Given the description of an element on the screen output the (x, y) to click on. 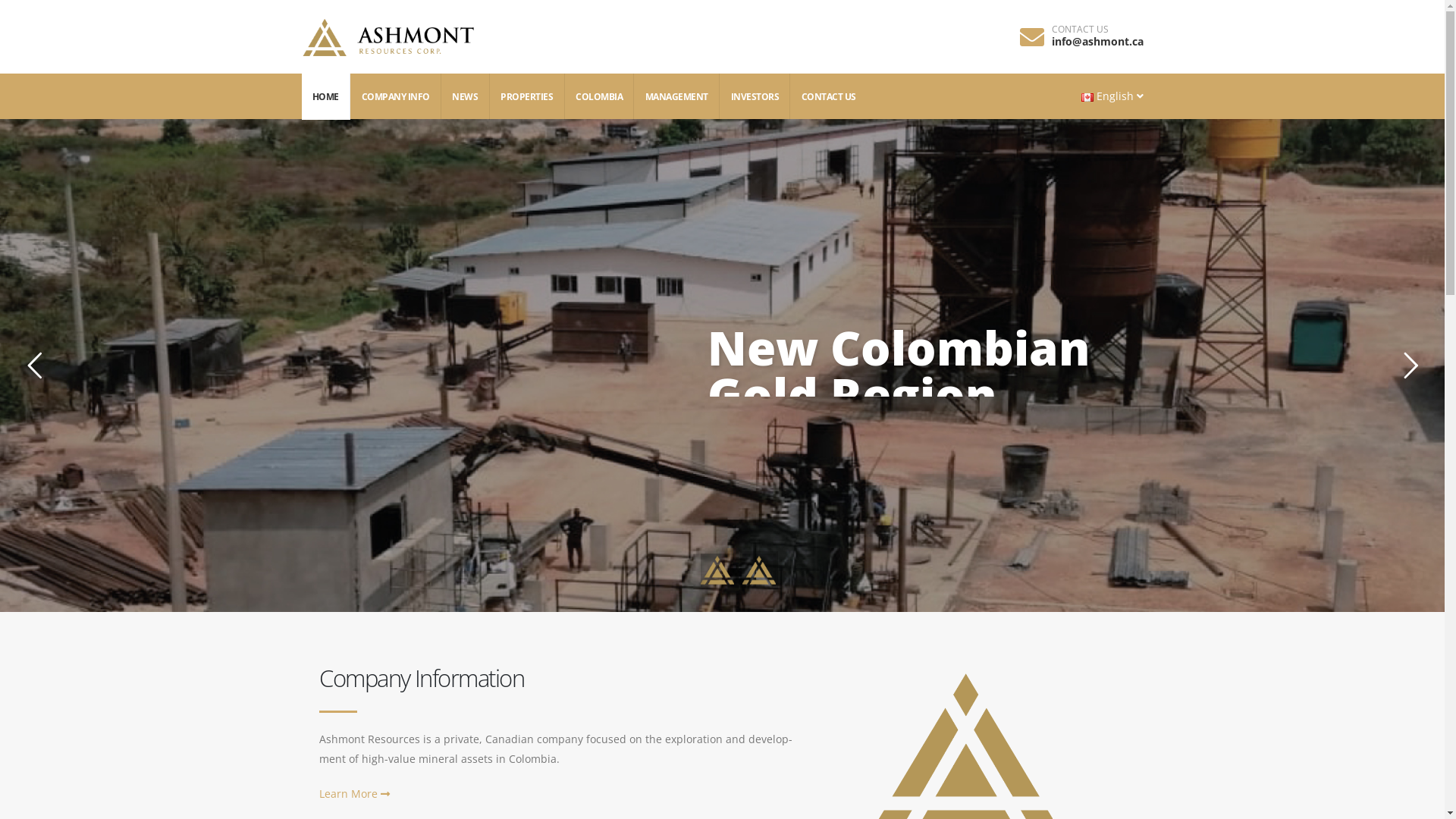
info@ashmont.ca Element type: text (1096, 41)
HOME Element type: text (326, 96)
MANAGEMENT Element type: text (676, 96)
CONTACT US Element type: text (828, 96)
INVESTORS Element type: text (754, 96)
NEWS Element type: text (465, 96)
PROPERTIES Element type: text (526, 96)
English Element type: text (1112, 92)
COLOMBIA Element type: text (599, 96)
Learn More Element type: text (354, 793)
COMPANY INFO Element type: text (395, 96)
